Given the description of an element on the screen output the (x, y) to click on. 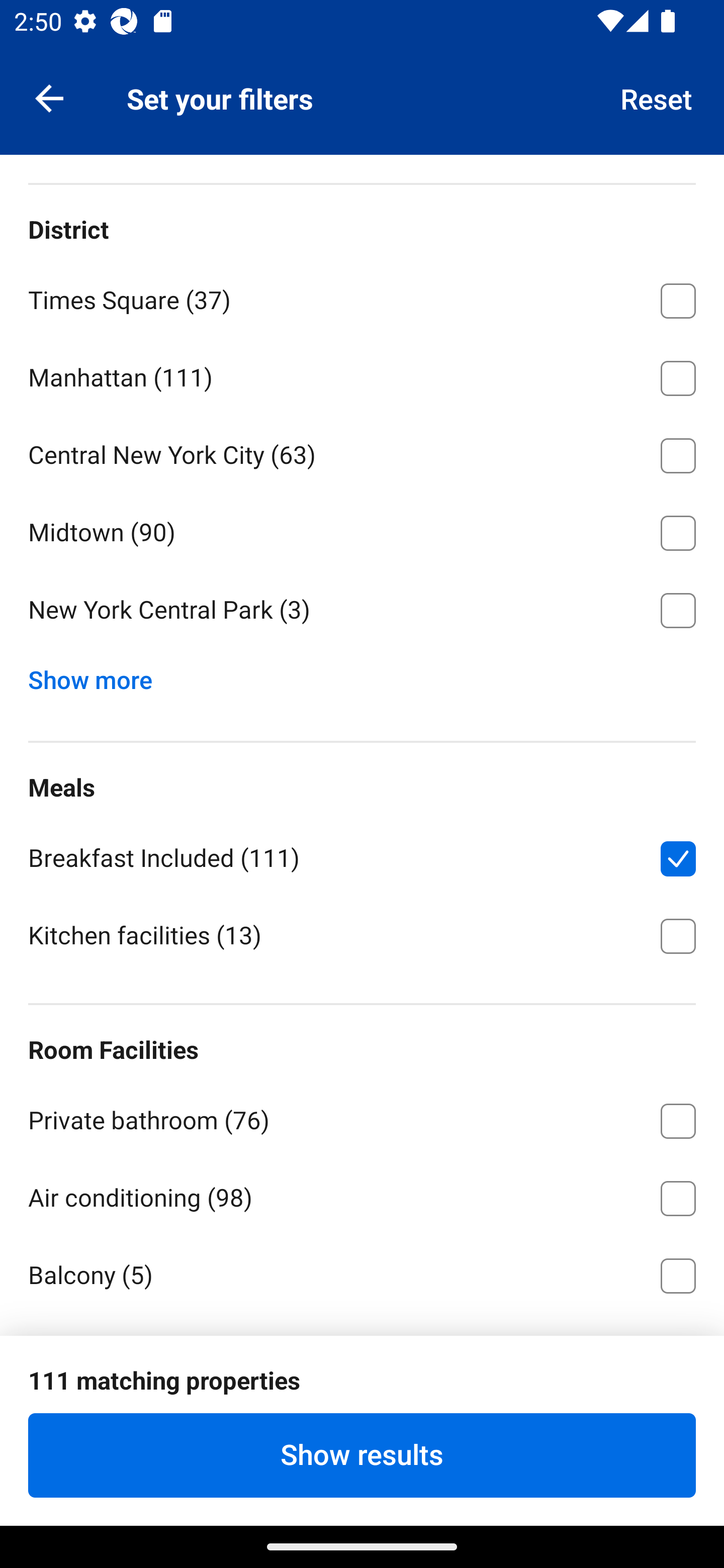
Navigate up (49, 97)
Reset (656, 97)
Times Square ⁦(37) (361, 296)
Manhattan ⁦(111) (361, 374)
Central New York City ⁦(63) (361, 451)
Midtown ⁦(90) (361, 528)
New York Central Park ⁦(3) (361, 609)
Show more (97, 674)
Breakfast Included ⁦(111) (361, 854)
Kitchen facilities ⁦(13) (361, 934)
Private bathroom ⁦(76) (361, 1117)
Air conditioning ⁦(98) (361, 1195)
Balcony ⁦(5) (361, 1272)
Show results (361, 1454)
